Given the description of an element on the screen output the (x, y) to click on. 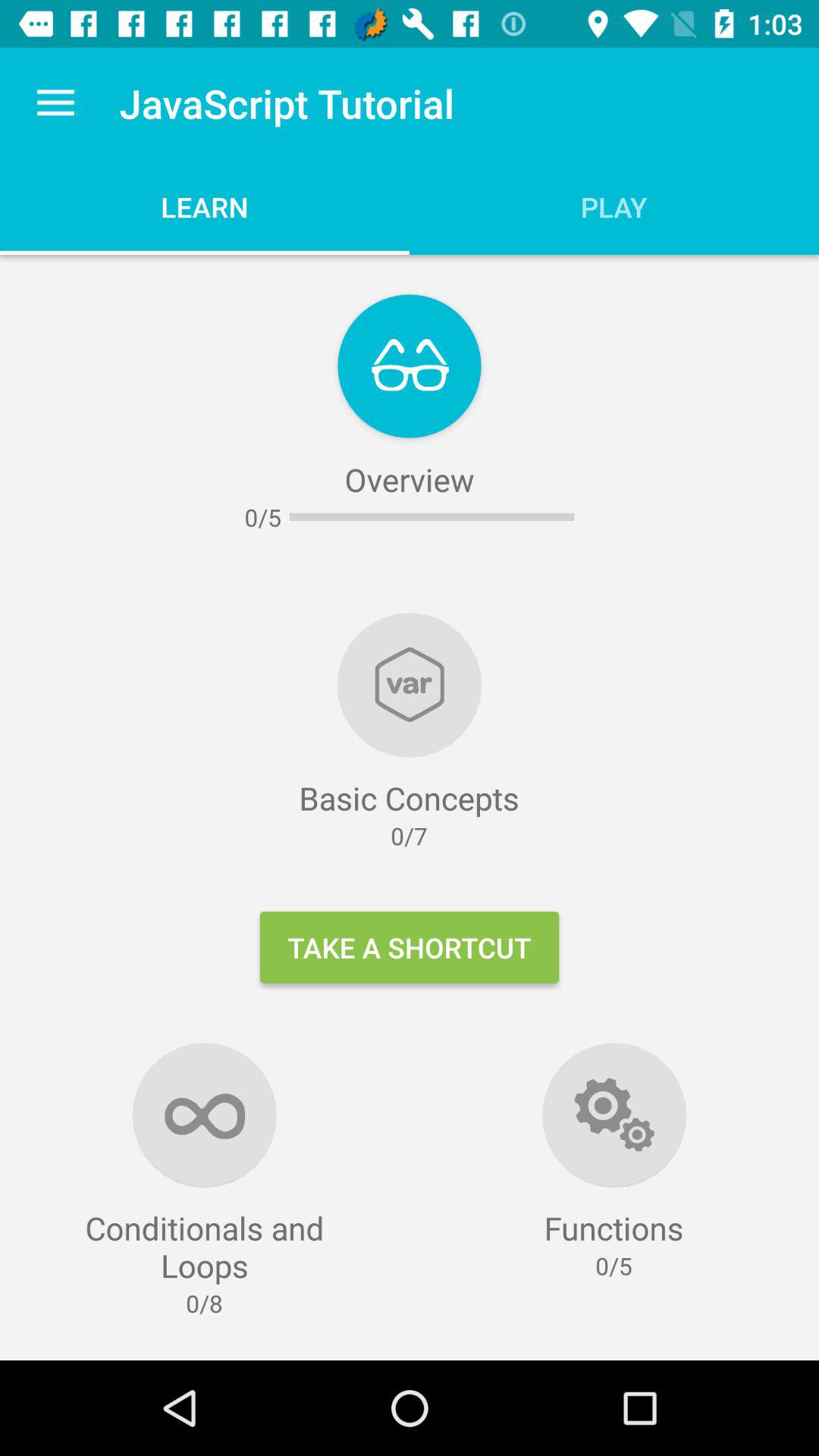
launch the take a shortcut (409, 947)
